Given the description of an element on the screen output the (x, y) to click on. 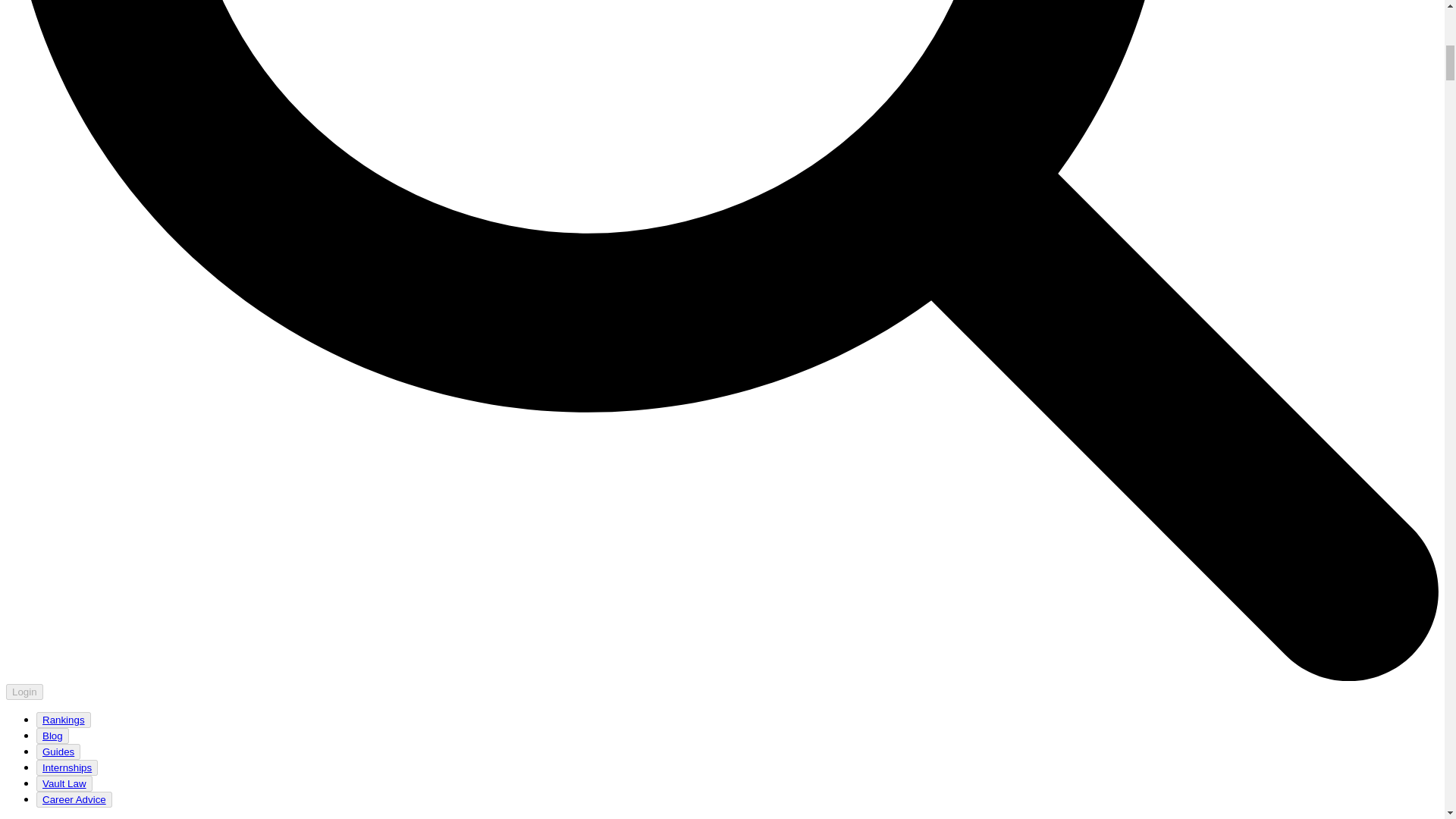
Career Advice (74, 799)
Vault Law (64, 783)
Guides (58, 751)
Career Advice (74, 799)
Login (24, 691)
Rankings (63, 719)
Blog (52, 736)
Internships (66, 767)
Blog (52, 735)
Login (24, 690)
